Given the description of an element on the screen output the (x, y) to click on. 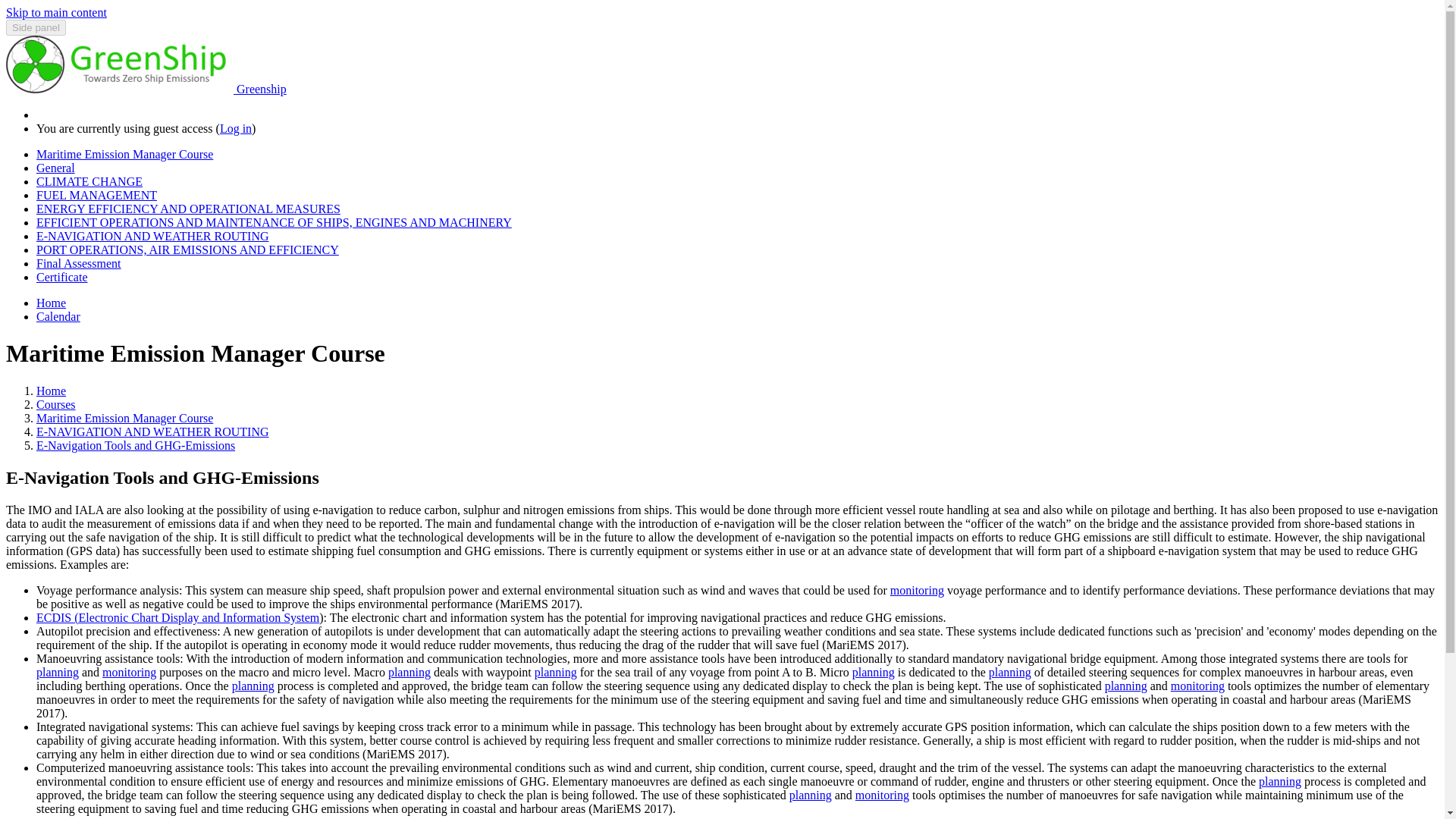
Skip to main content (55, 11)
Monitoring (882, 794)
Planning (1280, 780)
planning (409, 671)
Page (135, 445)
monitoring (1197, 685)
Planning (810, 794)
planning (1126, 685)
E-Navigation Tools and GHG-Emissions (135, 445)
Planning (57, 671)
